Given the description of an element on the screen output the (x, y) to click on. 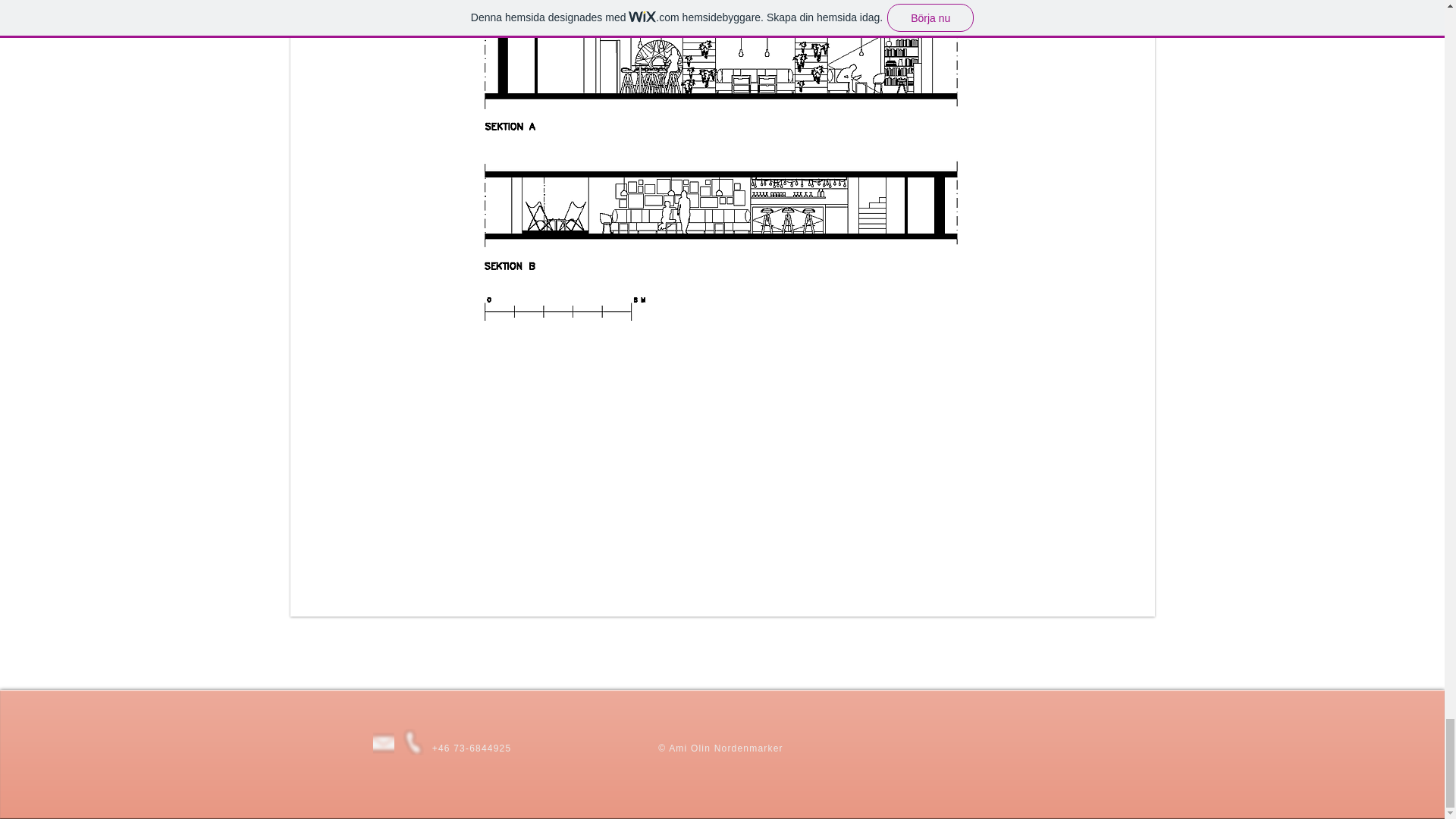
0736844925 (413, 741)
